Given the description of an element on the screen output the (x, y) to click on. 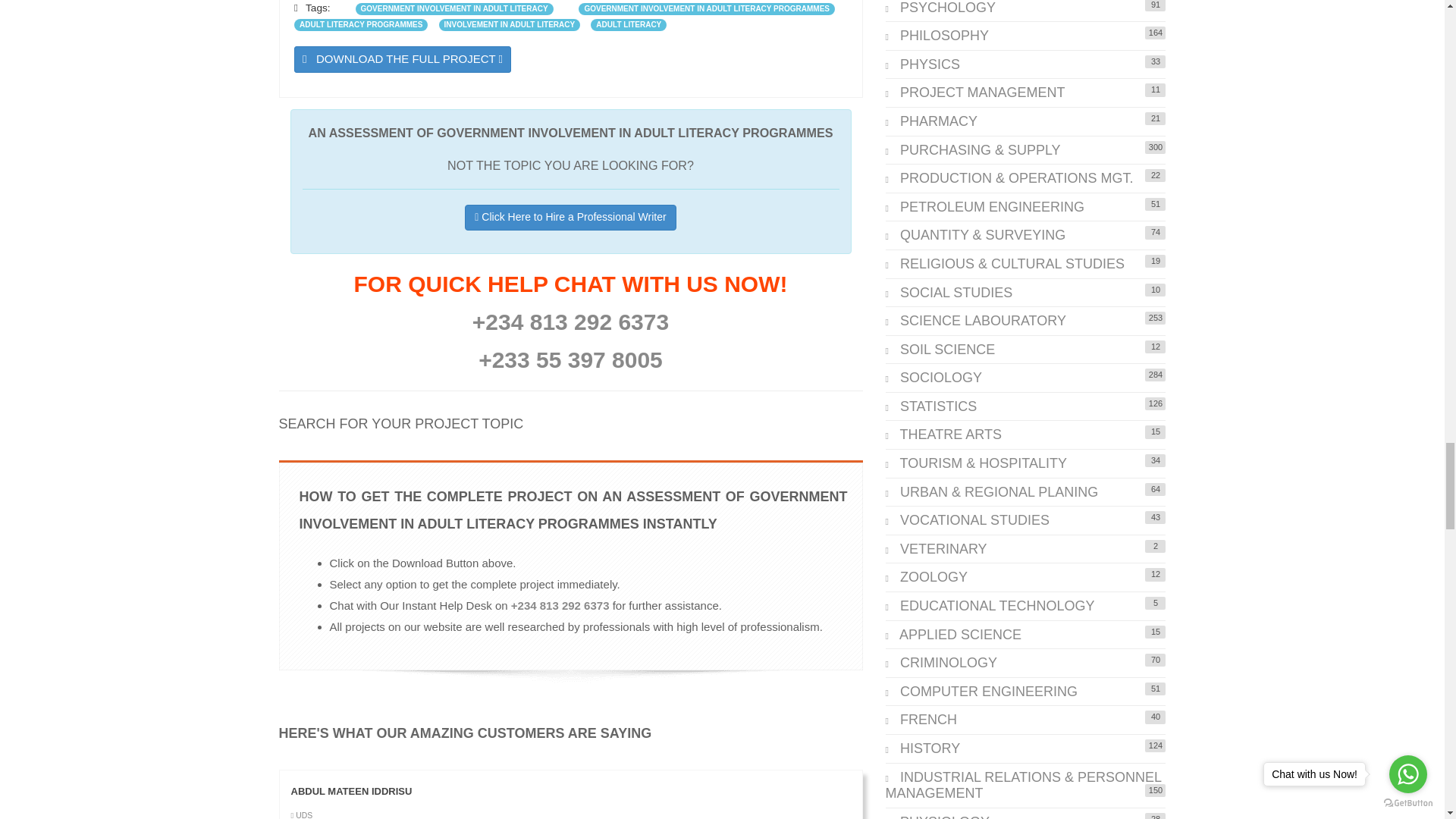
INVOLVEMENT IN ADULT LITERACY (509, 24)
GOVERNMENT INVOLVEMENT IN ADULT LITERACY PROGRAMMES (706, 9)
Click Here to Hire a Professional Writer (569, 217)
ADULT LITERACY PROGRAMMES (361, 24)
ADULT LITERACY (628, 24)
GOVERNMENT INVOLVEMENT IN ADULT LITERACY (454, 9)
  DOWNLOAD THE FULL PROJECT (402, 58)
